Given the description of an element on the screen output the (x, y) to click on. 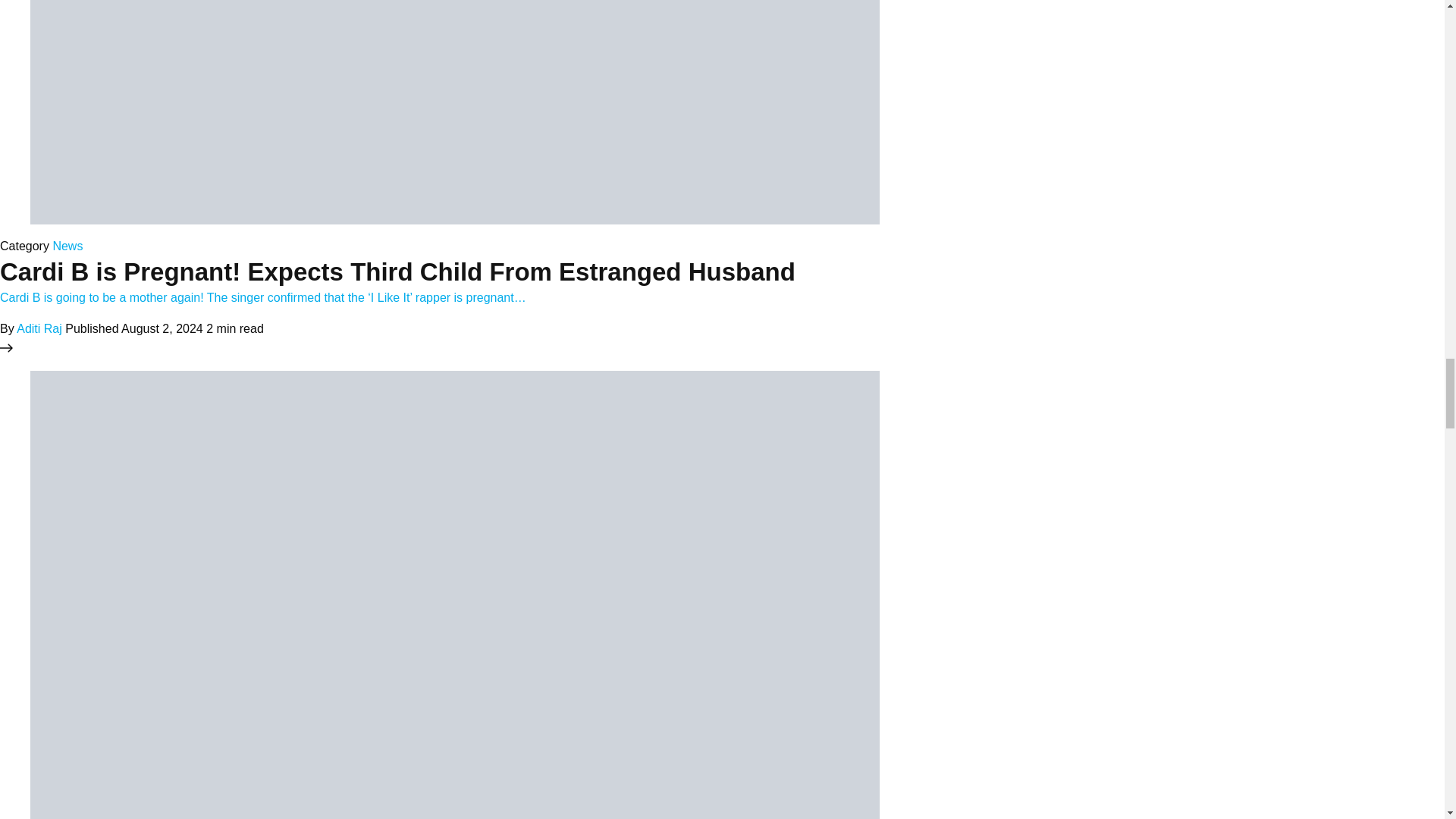
News (67, 245)
Aditi Raj (39, 327)
